Given the description of an element on the screen output the (x, y) to click on. 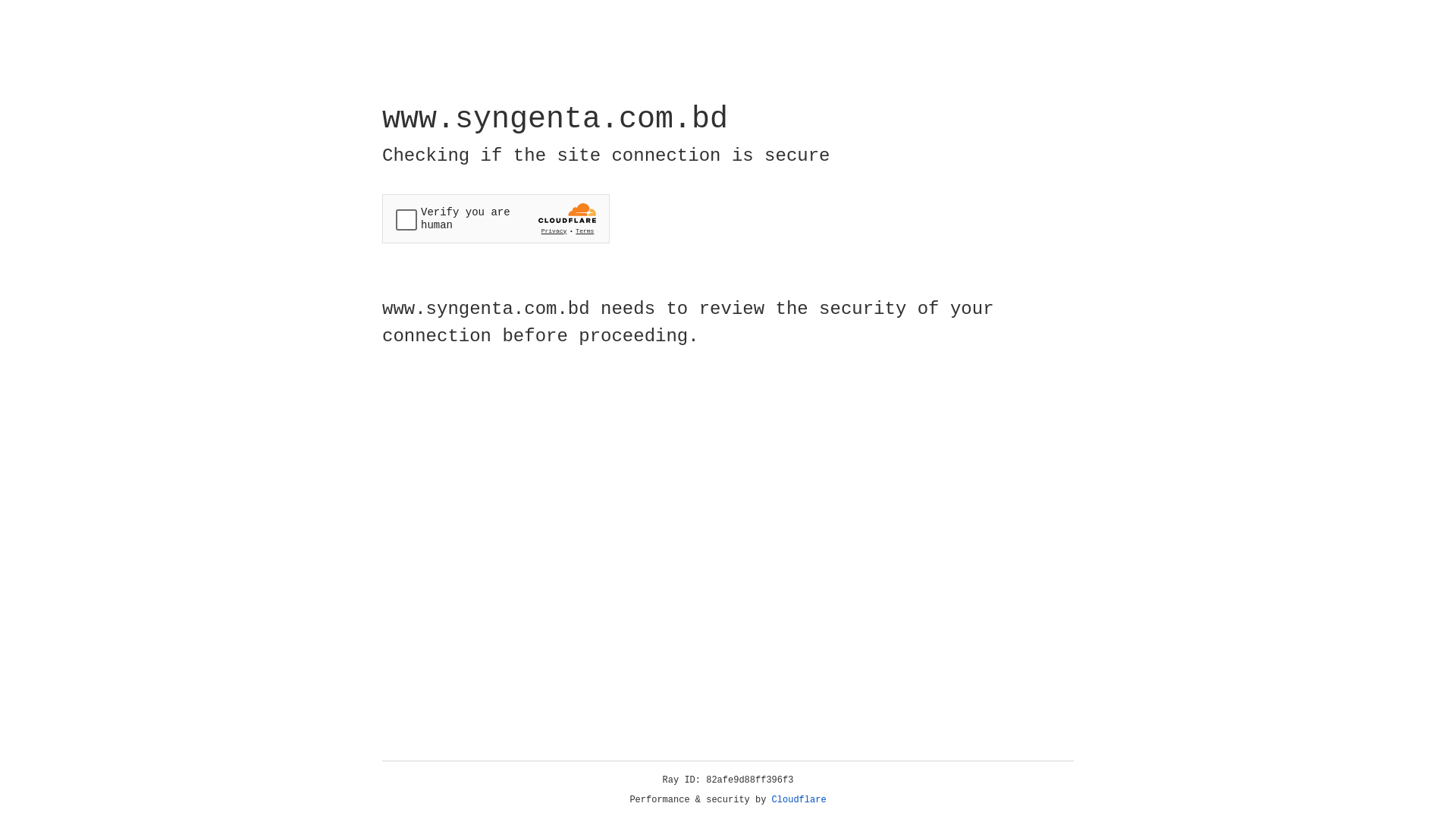
Cloudflare Element type: text (798, 799)
Widget containing a Cloudflare security challenge Element type: hover (495, 218)
